Given the description of an element on the screen output the (x, y) to click on. 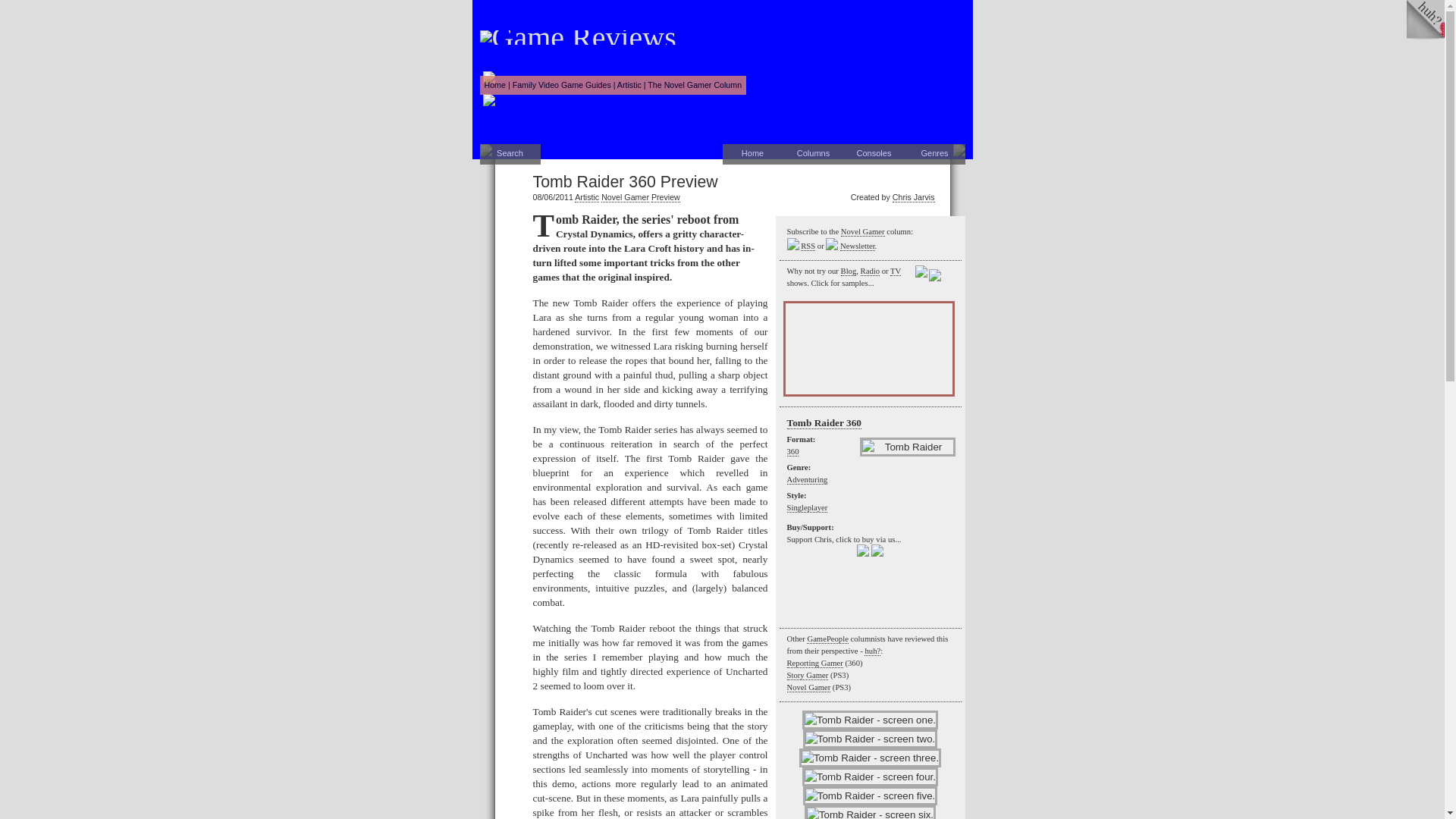
Group (629, 84)
Home (494, 84)
Tomb Raider - screen two. (870, 738)
Preview (664, 197)
Tomb Raider - screen three. (869, 757)
Tomb Raider - screen four. (869, 776)
Column (694, 84)
Family Video Game Guides (561, 84)
Tomb Raider - screen five. (870, 795)
Columns (813, 154)
